Given the description of an element on the screen output the (x, y) to click on. 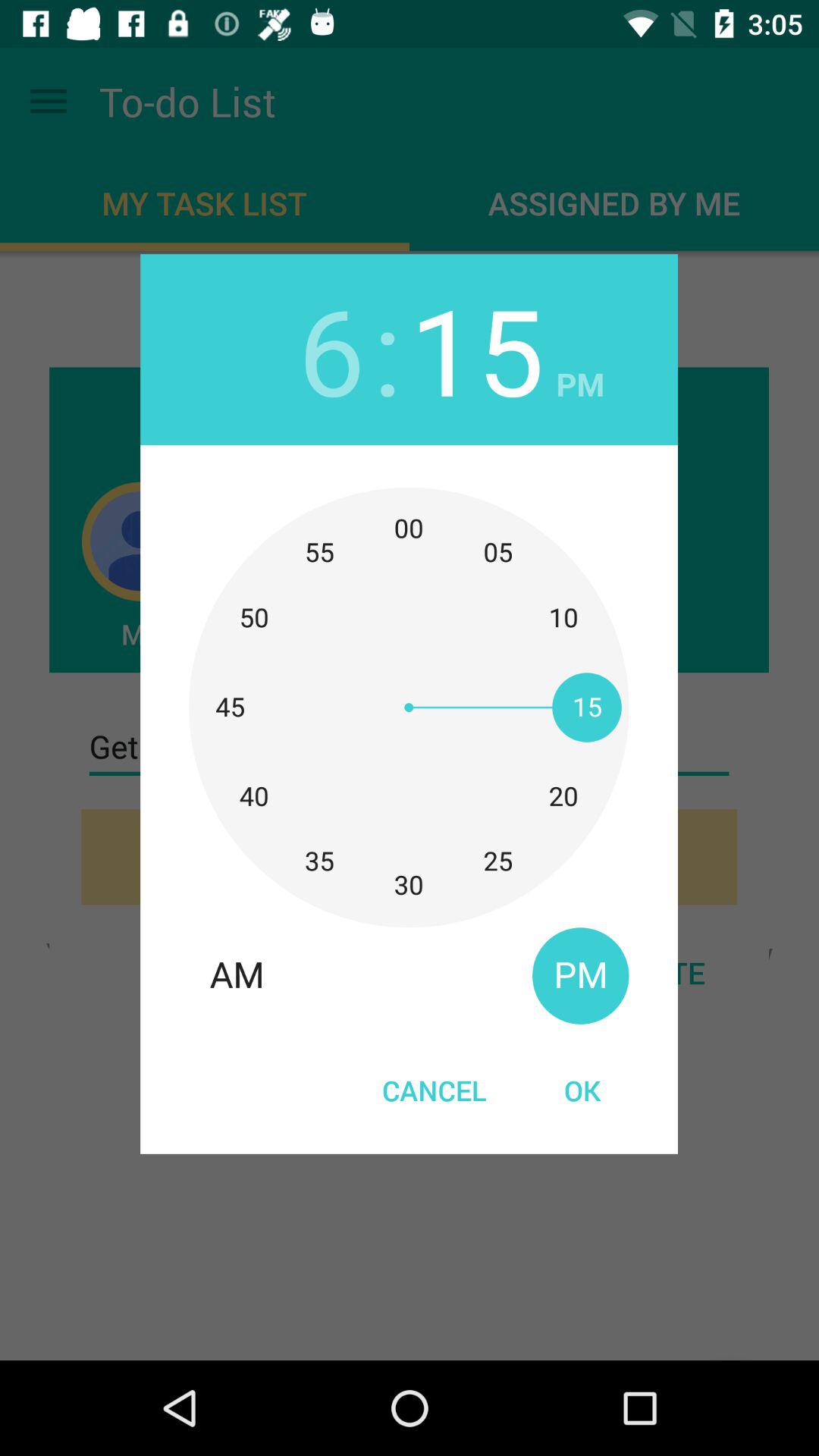
launch ok at the bottom right corner (582, 1090)
